Given the description of an element on the screen output the (x, y) to click on. 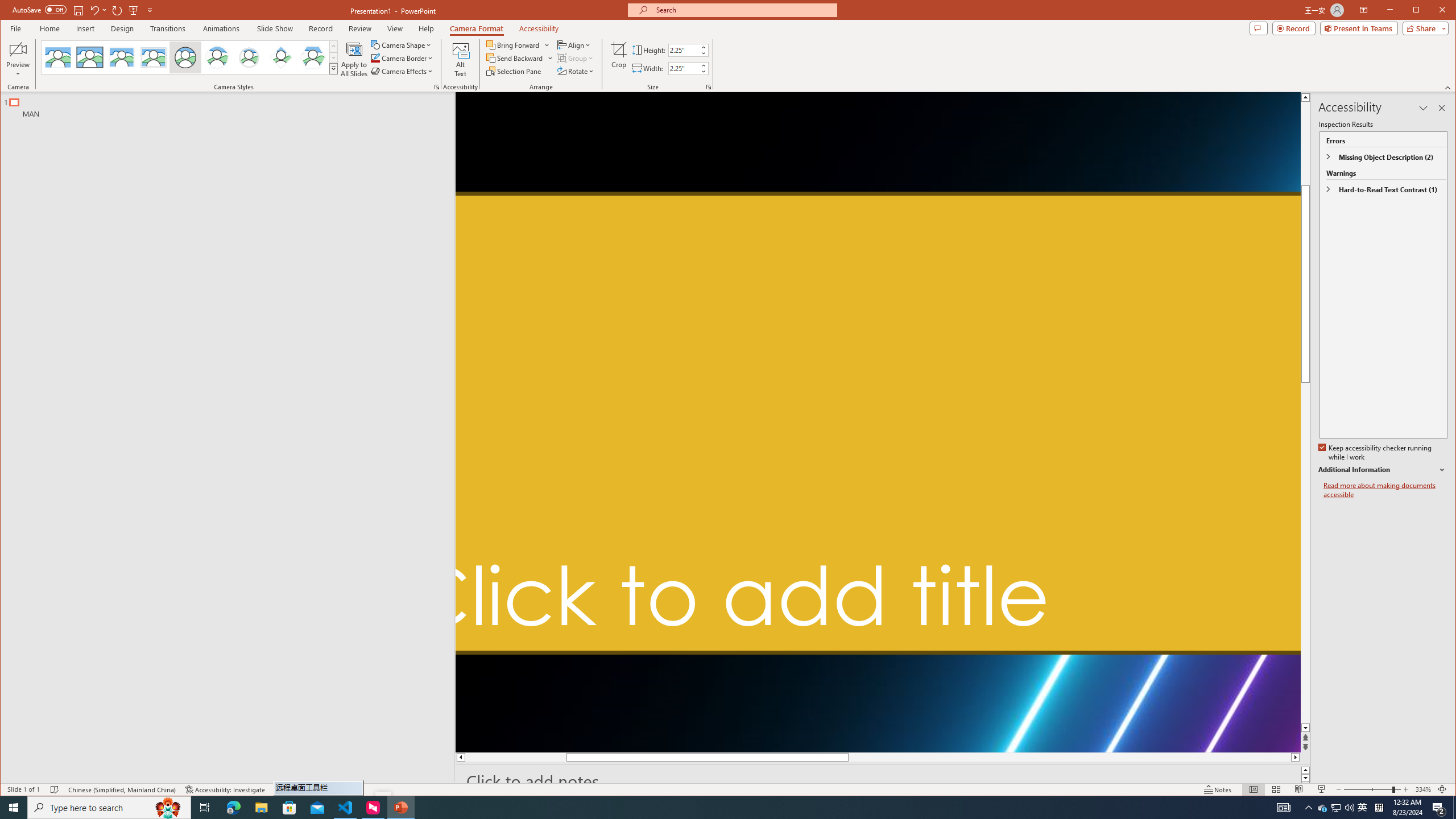
Center Shadow Diamond (280, 57)
Enable Camera Preview (17, 48)
Neon laser lights aligned to form a triangle (877, 421)
